Given the description of an element on the screen output the (x, y) to click on. 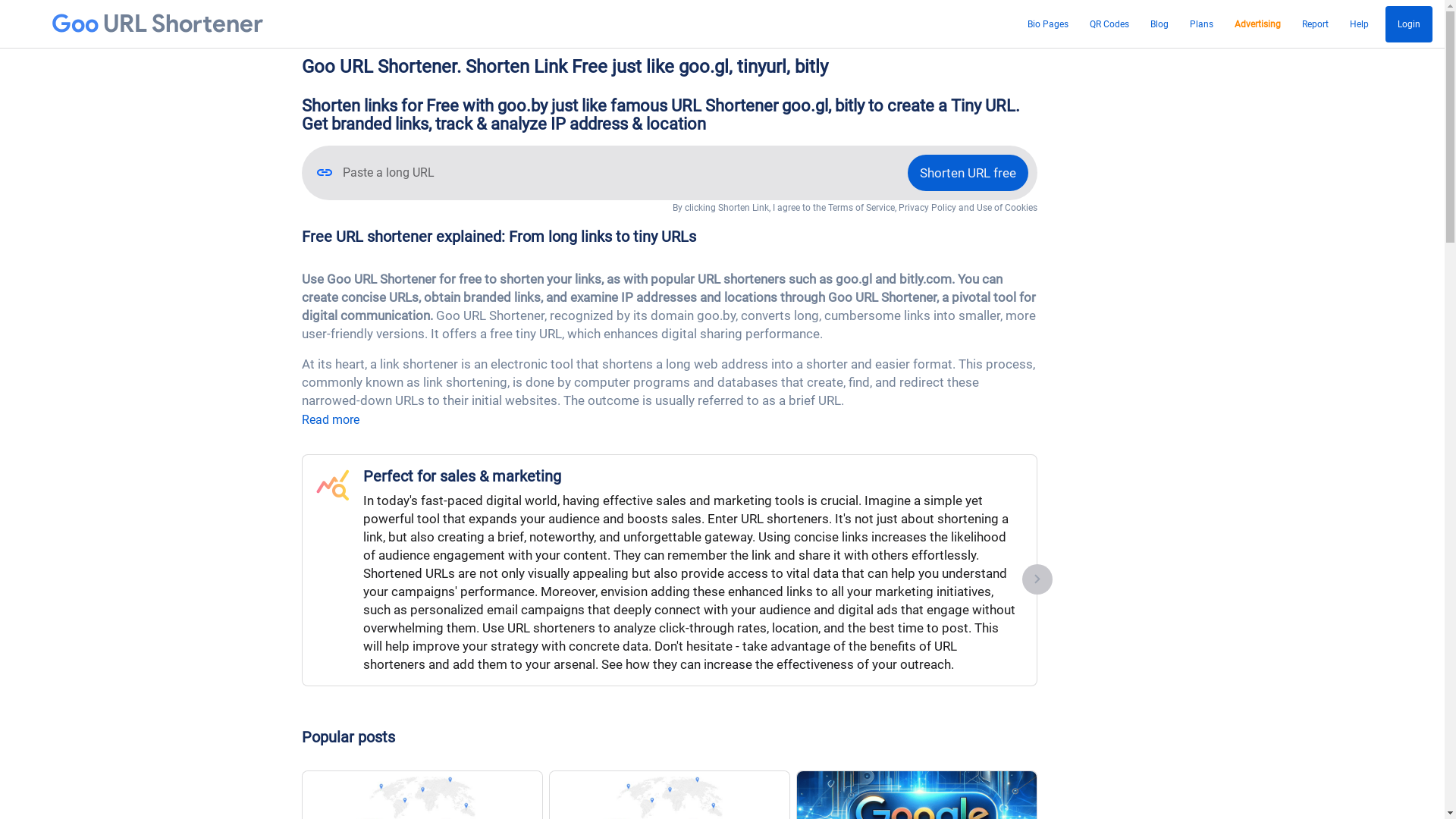
QR Codes Element type: text (1109, 24)
Bio Pages Element type: text (1047, 24)
Blog Element type: text (1159, 24)
Read more Element type: text (330, 419)
Advertising Element type: text (1257, 24)
Report Element type: text (1315, 24)
Plans Element type: text (1201, 24)
Help Element type: text (1359, 24)
Login Element type: text (1408, 24)
Shorten URL free Element type: text (966, 172)
